Given the description of an element on the screen output the (x, y) to click on. 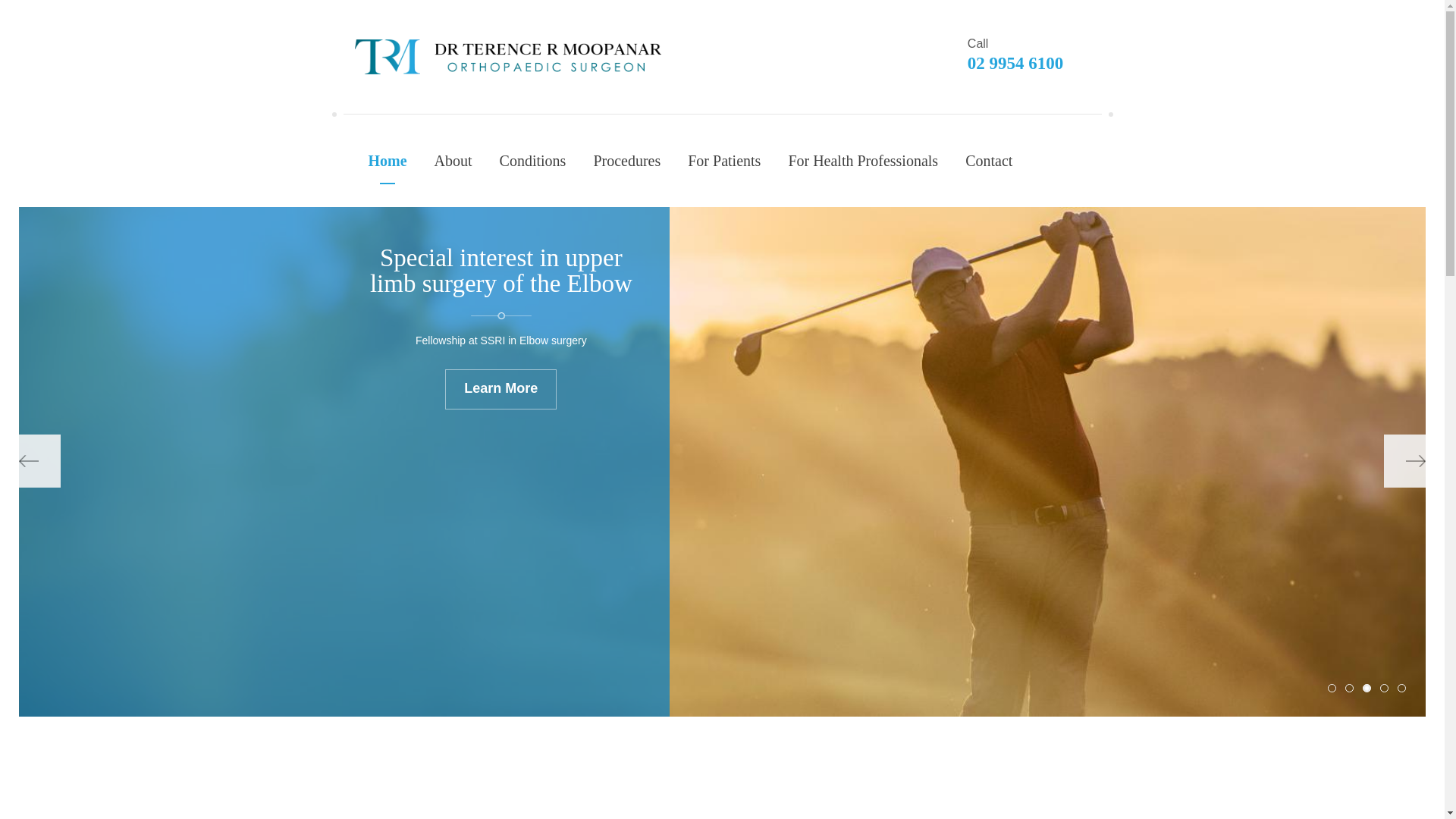
Learn More Element type: text (500, 415)
  Element type: text (507, 56)
Skip to main content Element type: text (61, 0)
Contact Element type: text (988, 160)
4 Element type: text (1384, 688)
Procedures Element type: text (626, 160)
For Health Professionals Element type: text (862, 160)
5 Element type: text (1401, 688)
Conditions Element type: text (533, 160)
2 Element type: text (1349, 688)
Previous Element type: text (39, 460)
For Patients Element type: text (724, 160)
About Element type: text (453, 160)
1 Element type: text (1331, 688)
Call
02 9954 6100 Element type: text (1028, 55)
Home Element type: text (387, 160)
Next Element type: text (1404, 460)
3 Element type: text (1366, 688)
